Given the description of an element on the screen output the (x, y) to click on. 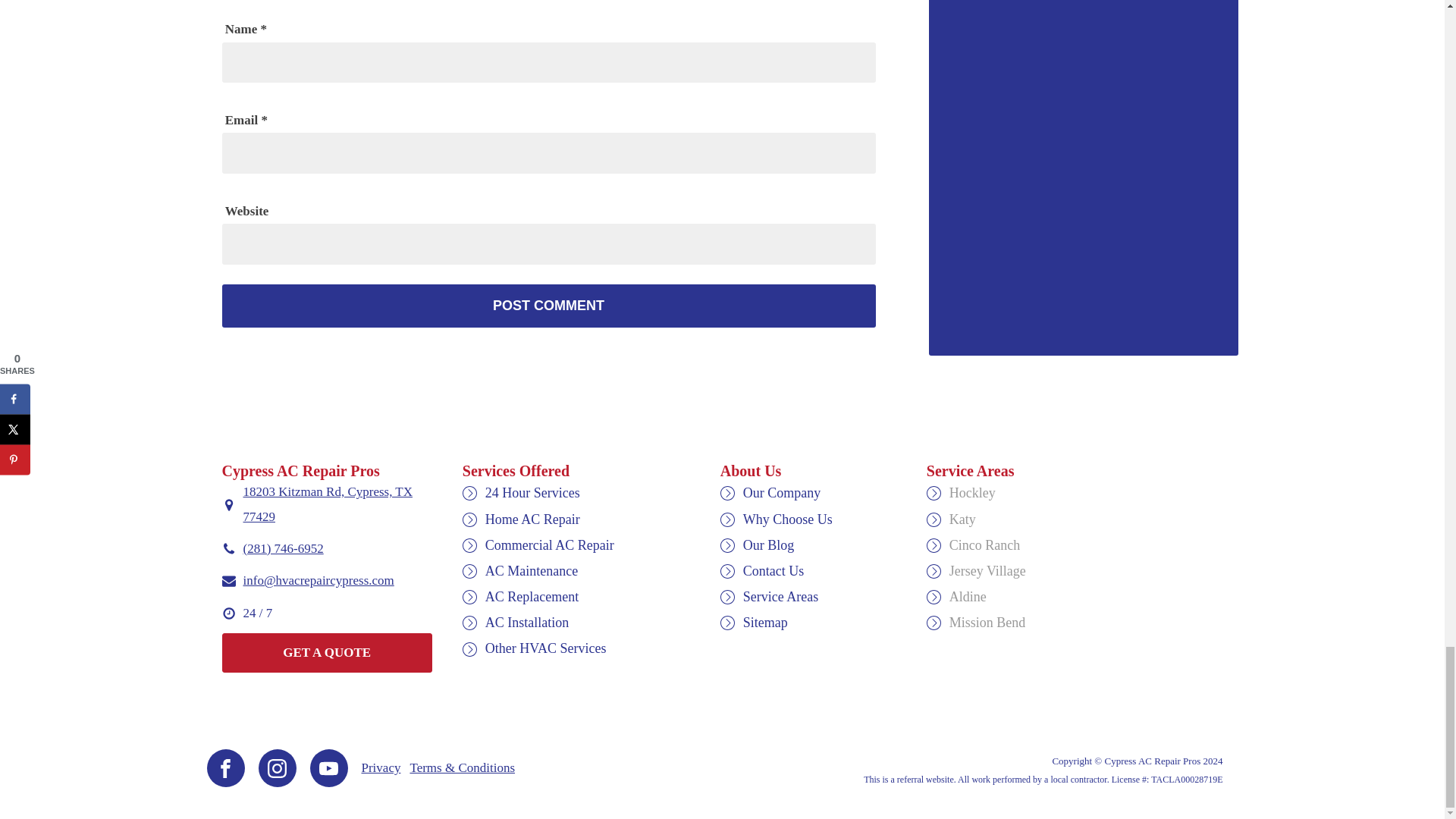
24 Hour Services (531, 492)
Commercial AC Repair (549, 544)
AC Maintenance (531, 570)
Home AC Repair (531, 519)
Post Comment (548, 306)
18203 Kitzman Rd, Cypress, TX 77429 (336, 504)
AC Replacement (531, 596)
Our Company (781, 492)
GET A QUOTE (325, 652)
AC Installation (526, 622)
